Given the description of an element on the screen output the (x, y) to click on. 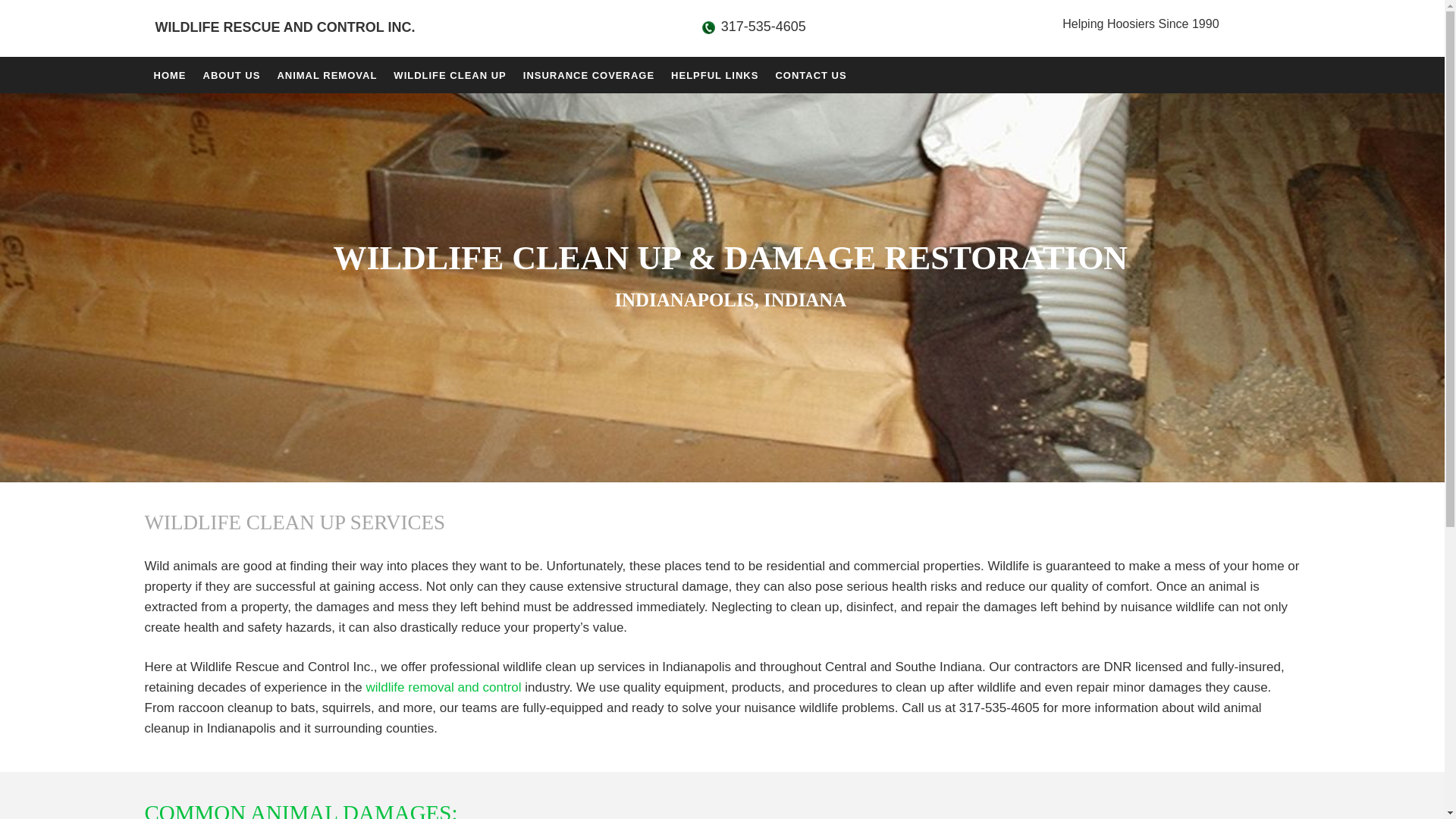
ABOUT US (230, 73)
INSURANCE COVERAGE (587, 73)
ANIMAL REMOVAL (325, 73)
HELPFUL LINKS (713, 73)
HOME (168, 73)
WILDLIFE CLEAN UP (448, 73)
CONTACT US (809, 73)
wildlife removal and control (443, 687)
